Given the description of an element on the screen output the (x, y) to click on. 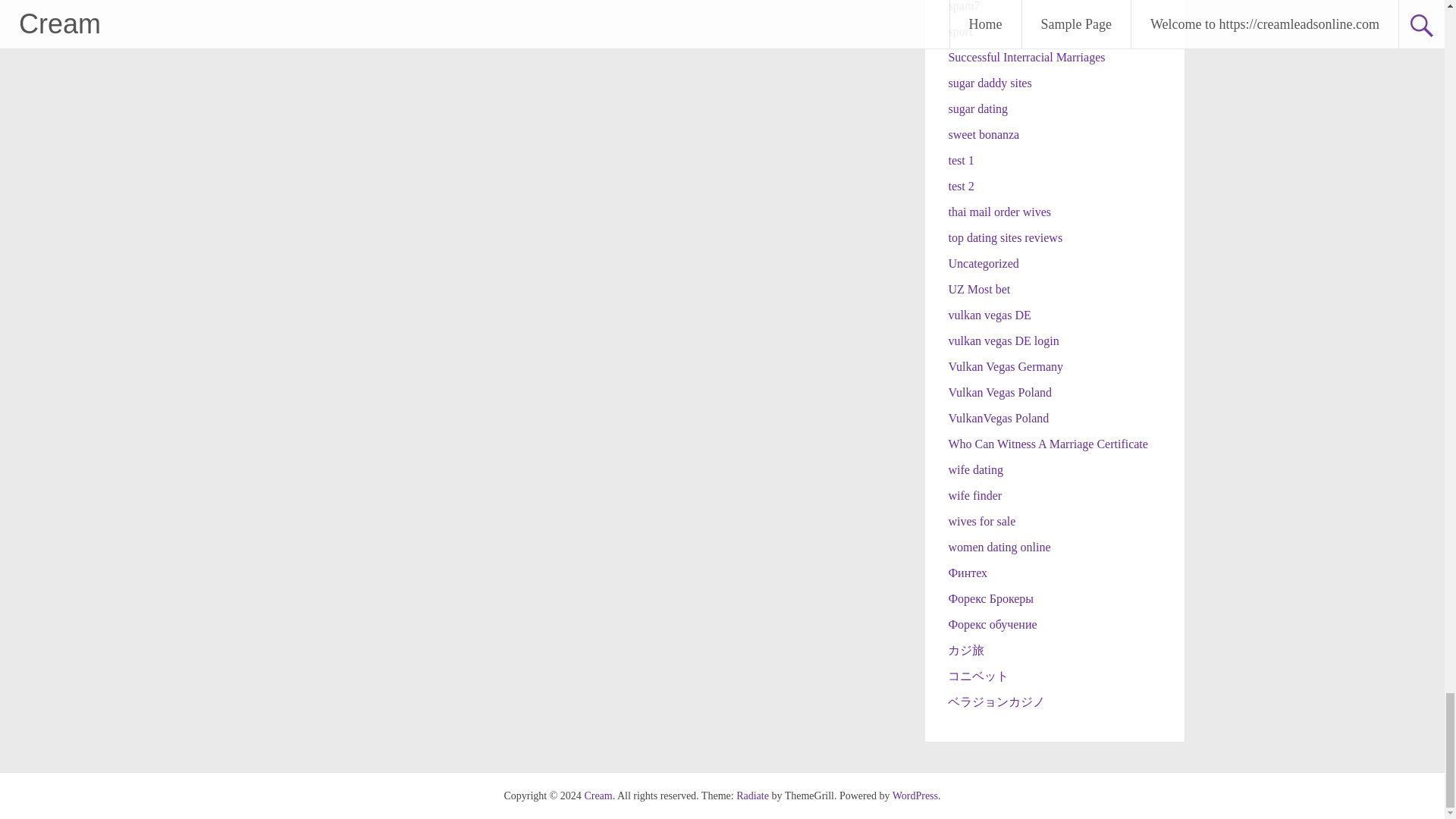
Cream (597, 795)
Radiate (752, 795)
WordPress (914, 795)
